Given the description of an element on the screen output the (x, y) to click on. 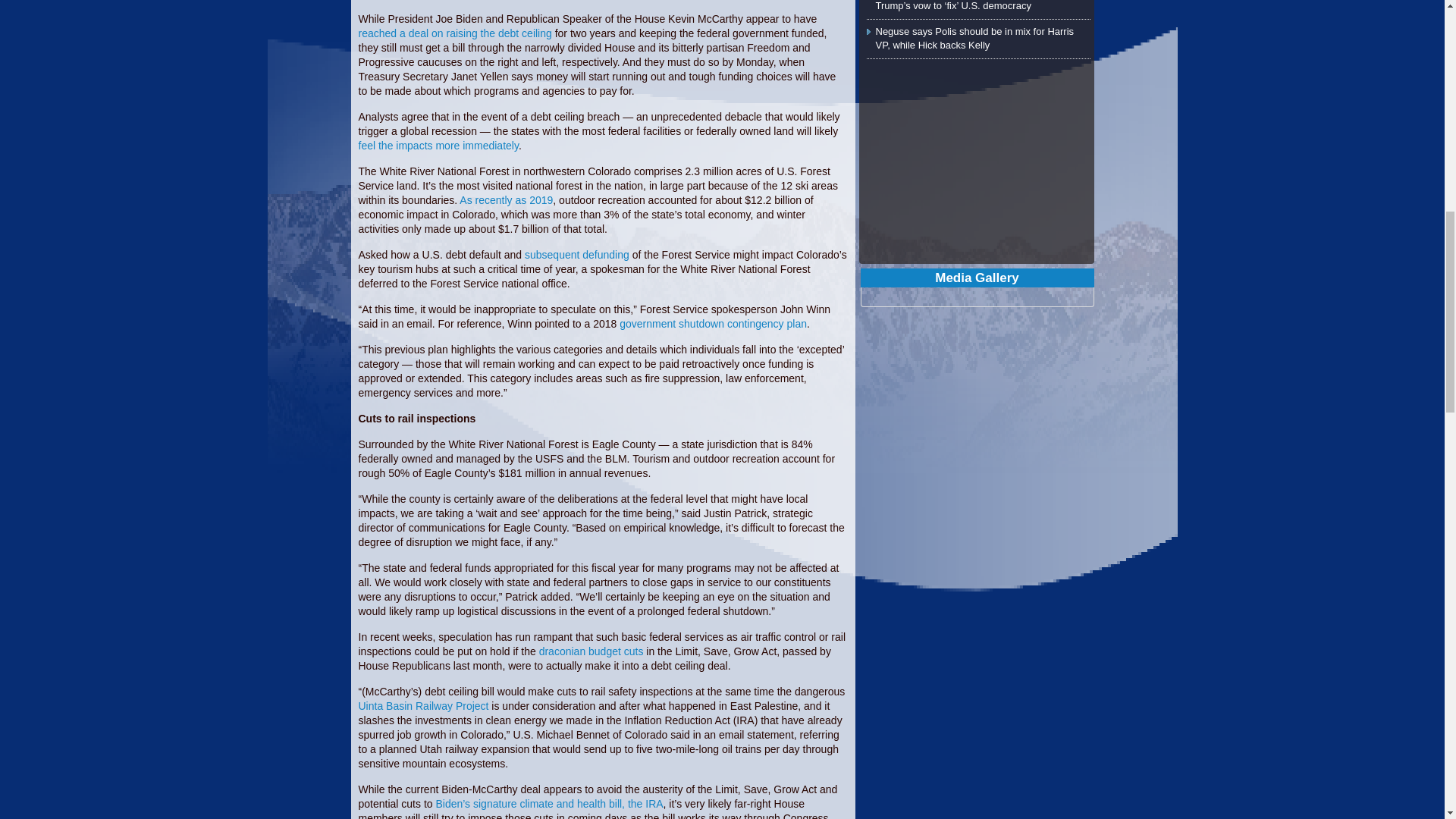
reached a deal on raising the debt ceiling (454, 33)
draconian budget cuts (590, 651)
Uinta Basin Railway Project (422, 705)
government shutdown contingency plan (713, 323)
feel the impacts more immediately (438, 145)
subsequent defunding (576, 254)
As recently as 2019 (506, 200)
